Given the description of an element on the screen output the (x, y) to click on. 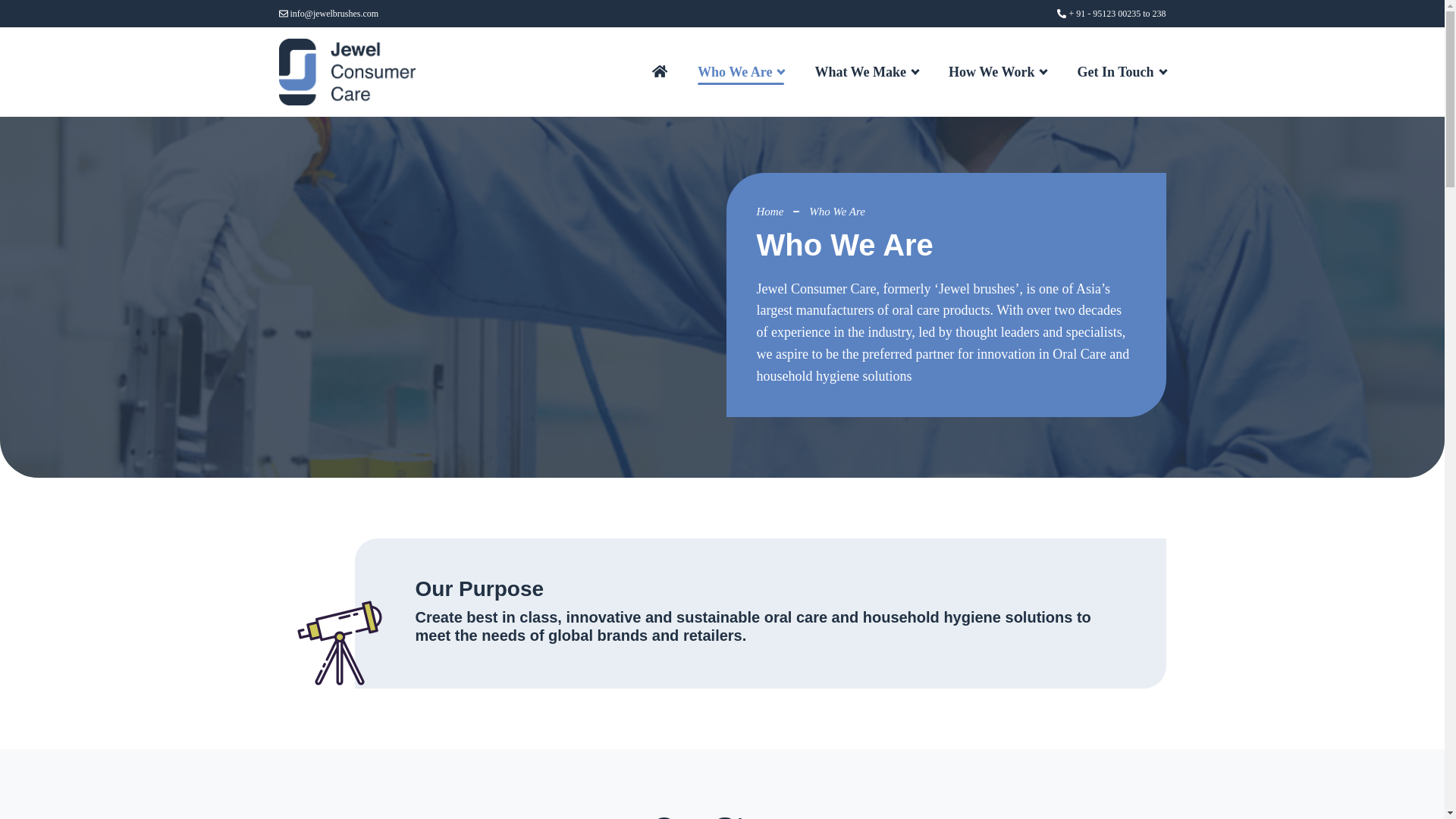
Get In Touch (1121, 71)
Home (770, 211)
What We Make (865, 71)
Who We Are (740, 71)
How We Work (997, 71)
